Given the description of an element on the screen output the (x, y) to click on. 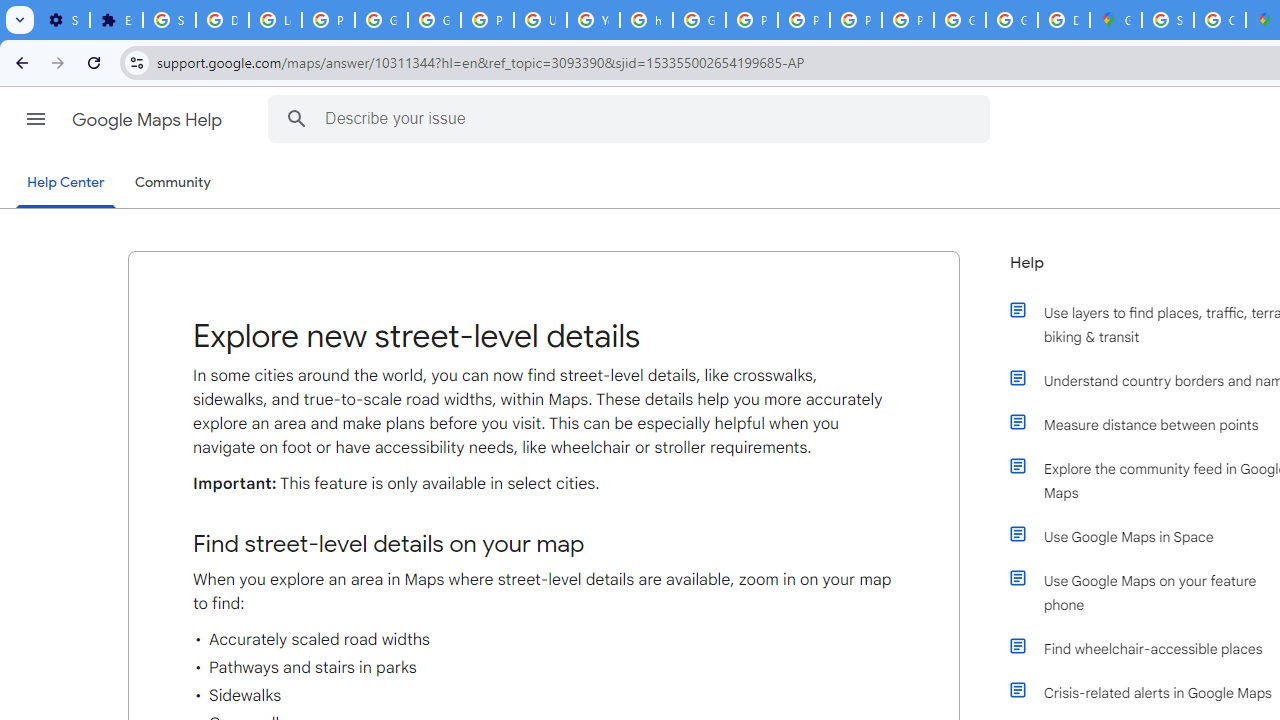
Sign in - Google Accounts (169, 20)
YouTube (593, 20)
Privacy Help Center - Policies Help (751, 20)
Delete photos & videos - Computer - Google Photos Help (222, 20)
Sign in - Google Accounts (1167, 20)
